Given the description of an element on the screen output the (x, y) to click on. 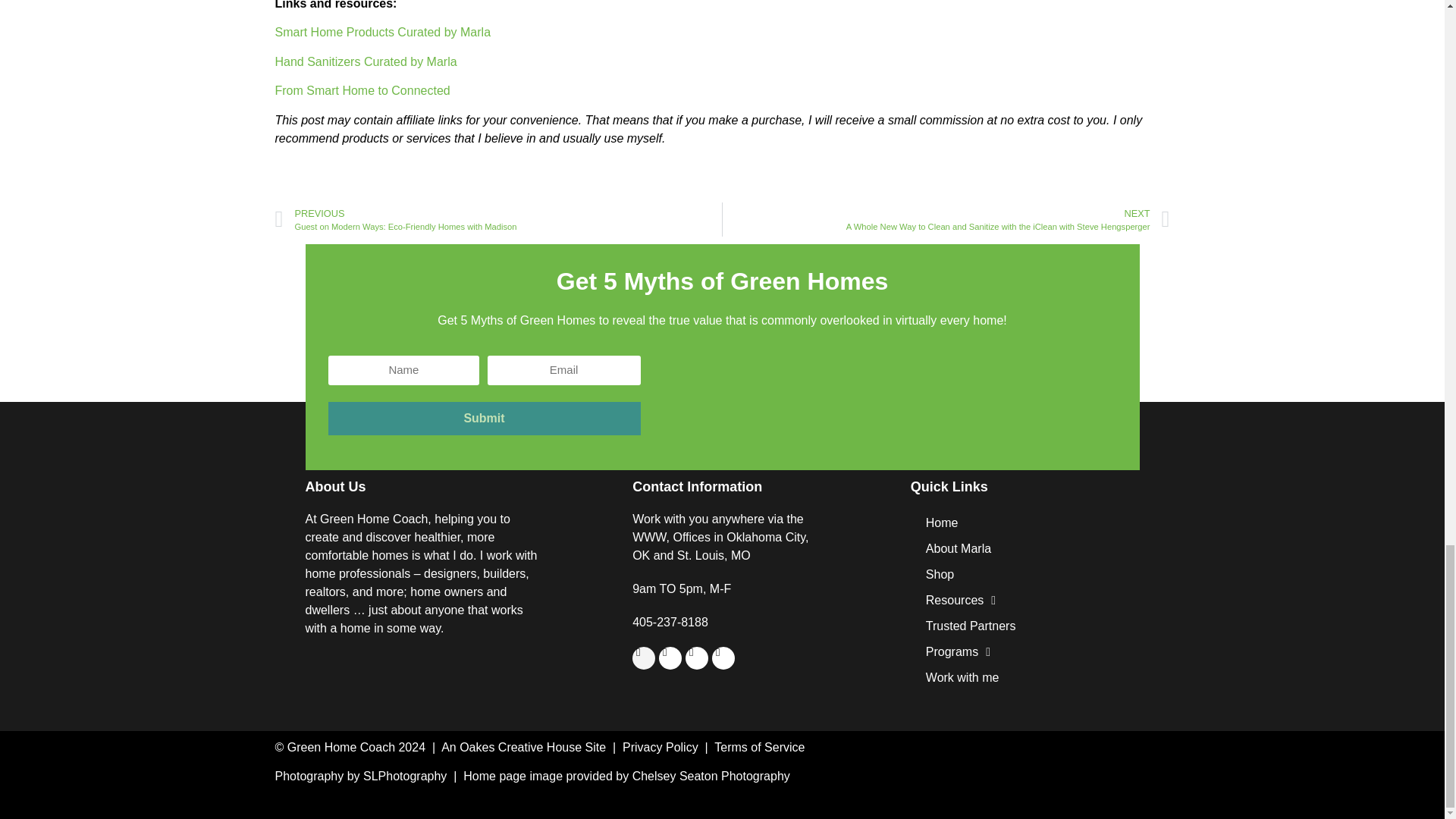
Submit (483, 418)
